Given the description of an element on the screen output the (x, y) to click on. 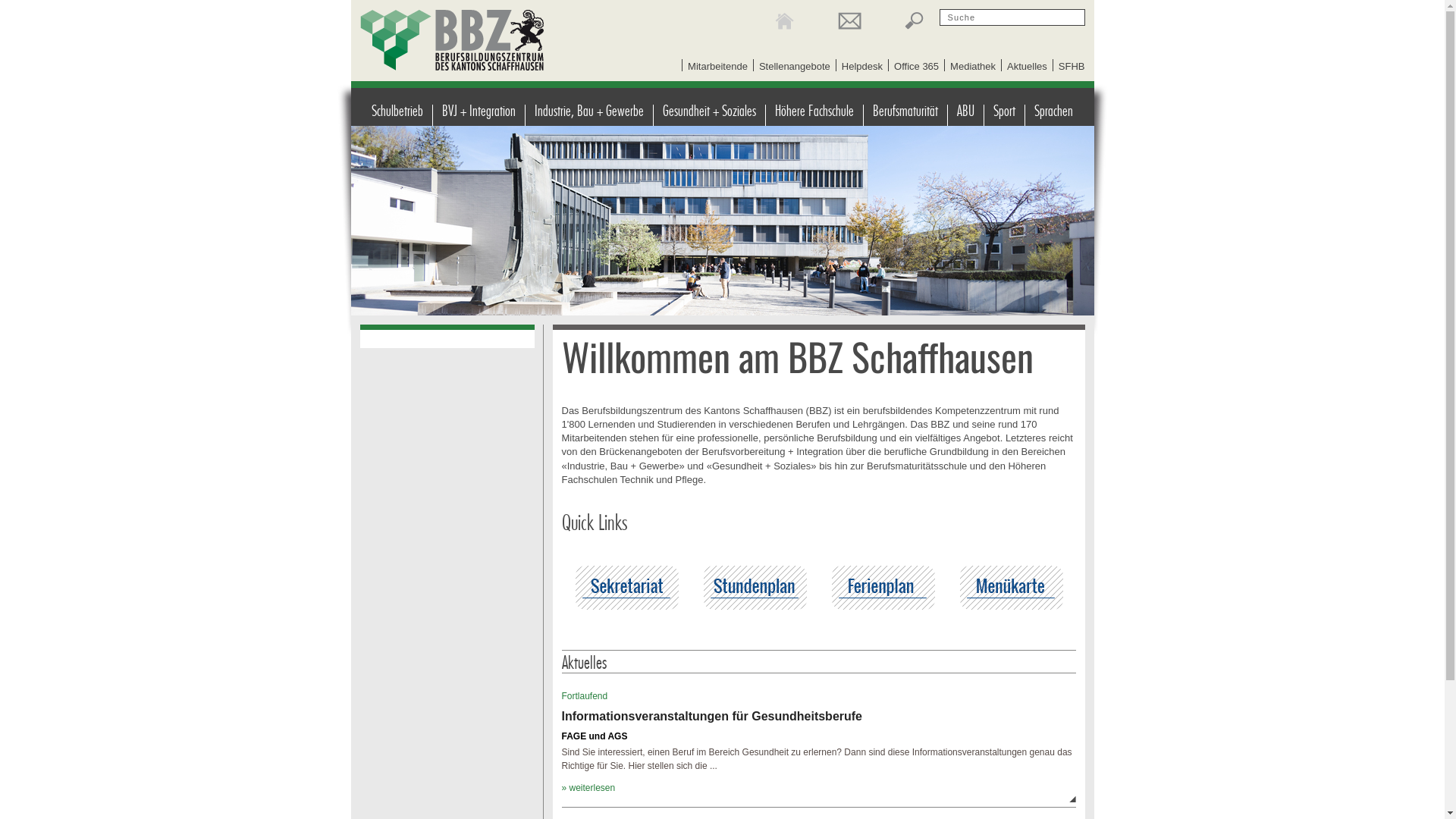
Gesundheit + Soziales Element type: text (709, 114)
SFHB Element type: text (1071, 66)
Mitarbeitende Element type: text (717, 66)
Sprachen Element type: text (1053, 114)
Mediathek Element type: text (972, 66)
BVJ + Integration Element type: text (478, 114)
Sport Element type: text (1004, 114)
Helpdesk Element type: text (861, 66)
Stellenangebote Element type: text (794, 66)
Office 365 Element type: text (916, 66)
Aktuelles Element type: text (1027, 66)
Home Element type: hover (784, 20)
Industrie, Bau + Gewerbe Element type: text (588, 114)
Suche Element type: hover (914, 20)
Schulbetrieb Element type: text (397, 114)
Kontakt Element type: hover (849, 20)
ABU Element type: text (965, 114)
